Given the description of an element on the screen output the (x, y) to click on. 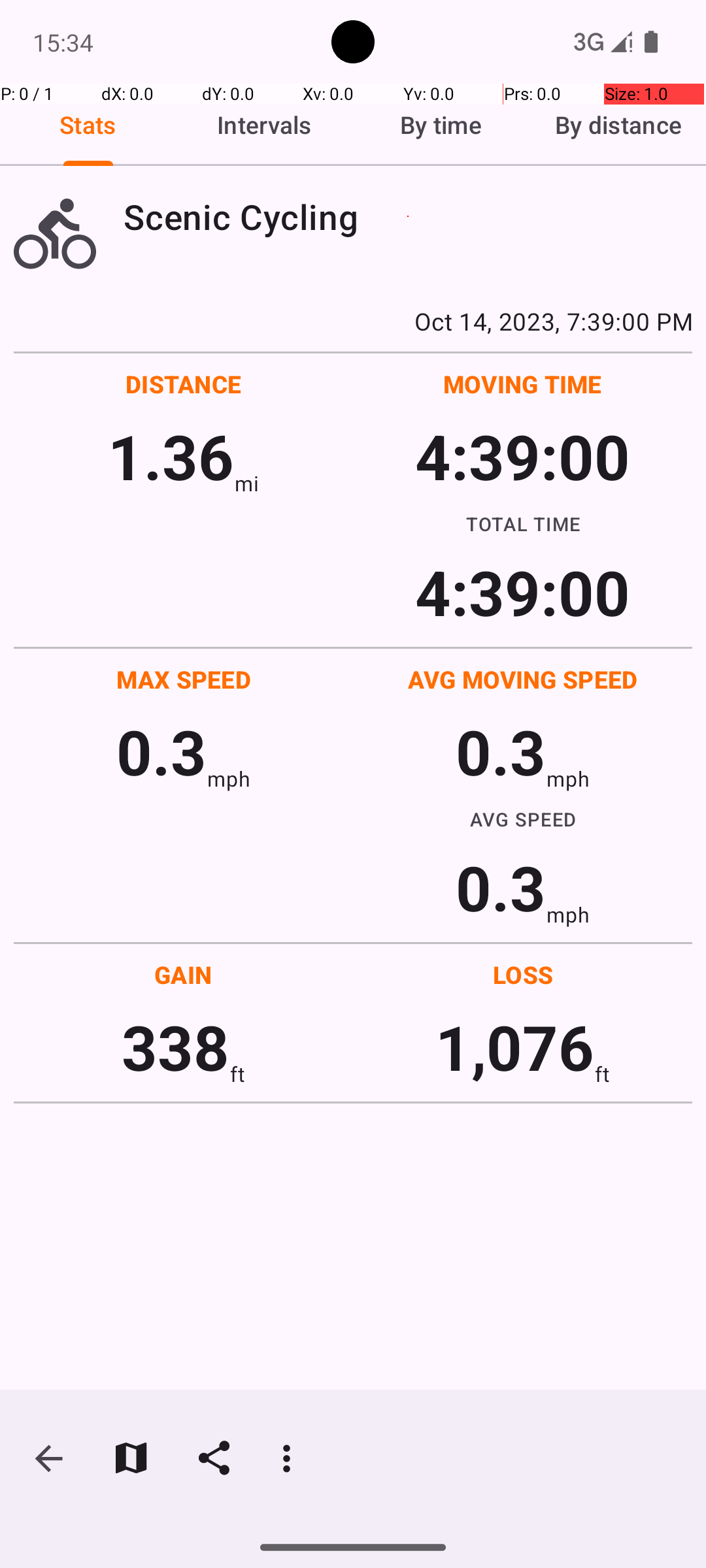
Scenic Cycling Element type: android.widget.TextView (407, 216)
Oct 14, 2023, 7:39:00 PM Element type: android.widget.TextView (352, 320)
1.36 Element type: android.widget.TextView (170, 455)
4:39:00 Element type: android.widget.TextView (522, 455)
0.3 Element type: android.widget.TextView (161, 750)
338 Element type: android.widget.TextView (175, 1045)
1,076 Element type: android.widget.TextView (514, 1045)
